Given the description of an element on the screen output the (x, y) to click on. 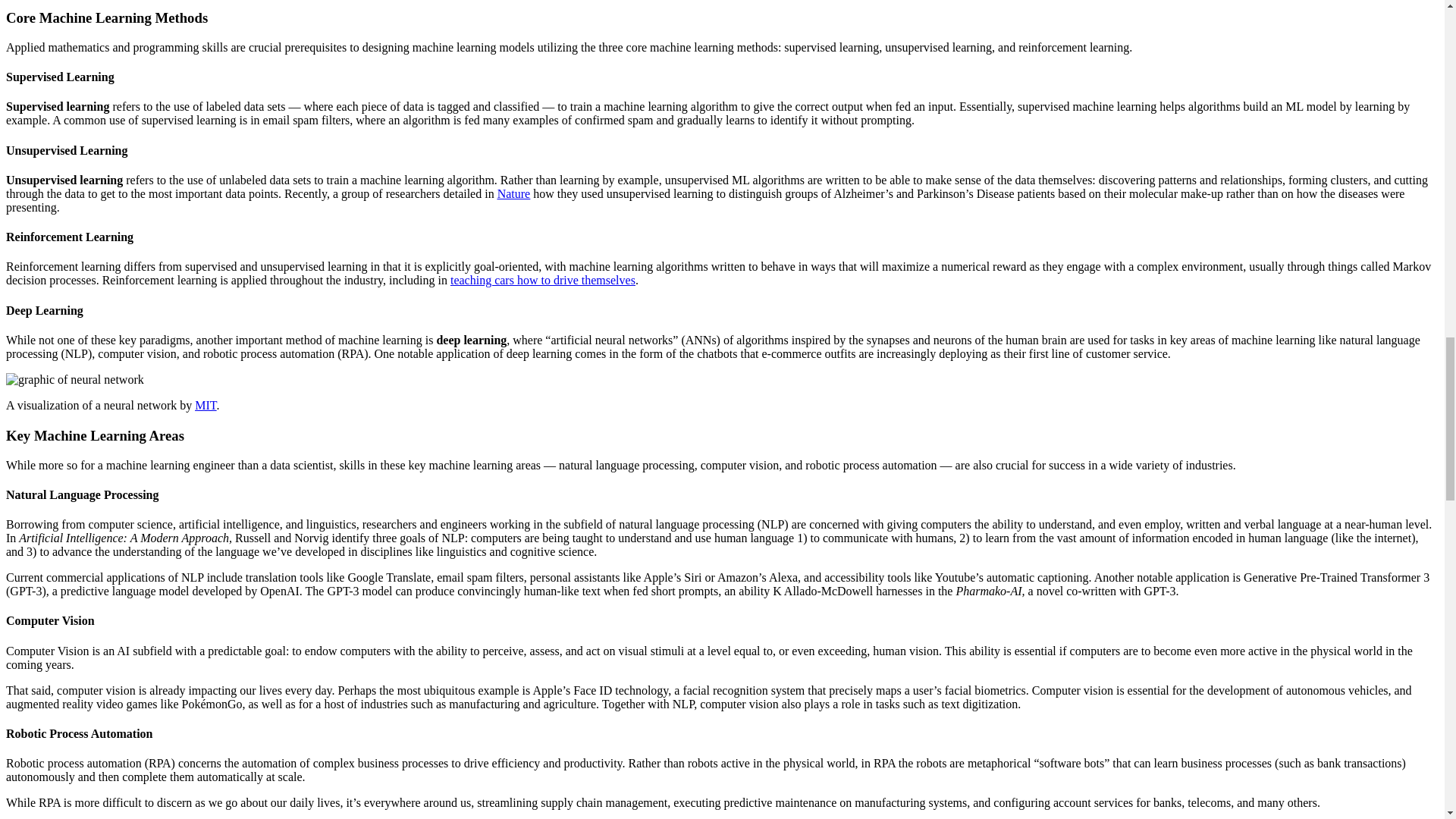
MIT (205, 404)
teaching cars how to drive themselves (541, 279)
Nature (514, 193)
